Given the description of an element on the screen output the (x, y) to click on. 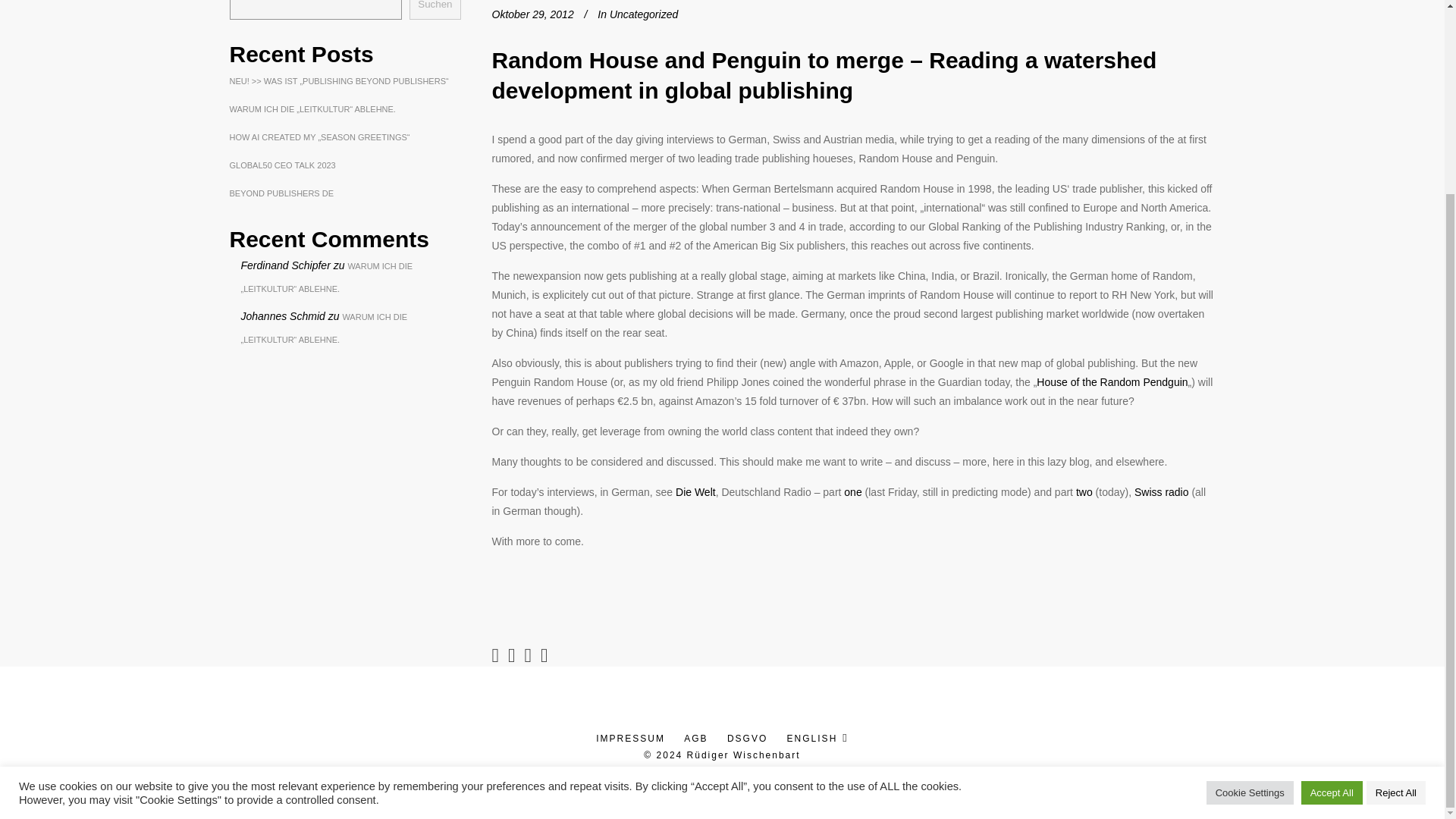
Share on Pinterest (544, 654)
Share on LinkedIn (528, 654)
Share on Facebook (495, 654)
Share on Twitter (511, 654)
